Given the description of an element on the screen output the (x, y) to click on. 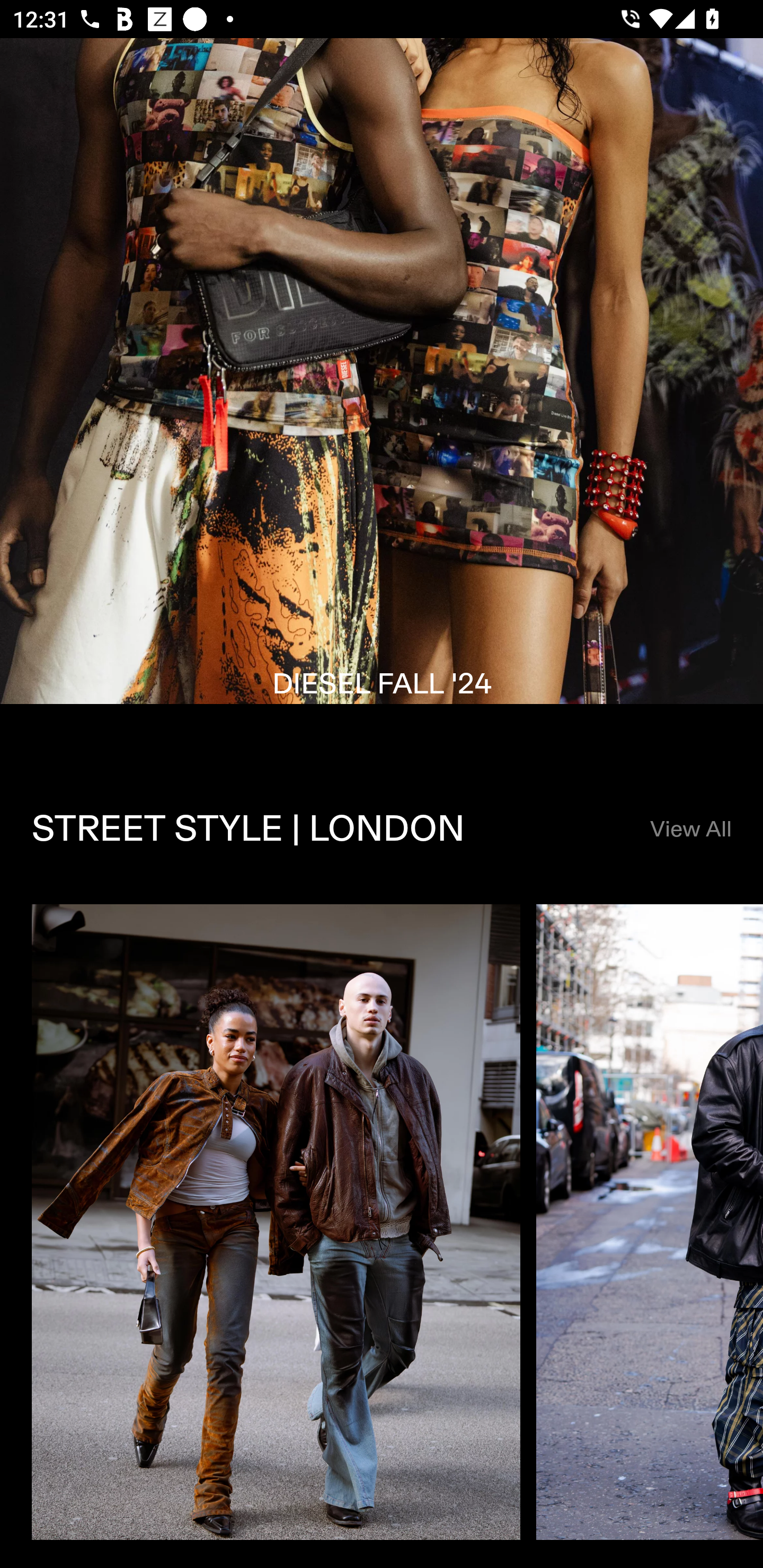
FIRST LOOKS DIESEL FALL '24 (381, 395)
View All (690, 830)
